Given the description of an element on the screen output the (x, y) to click on. 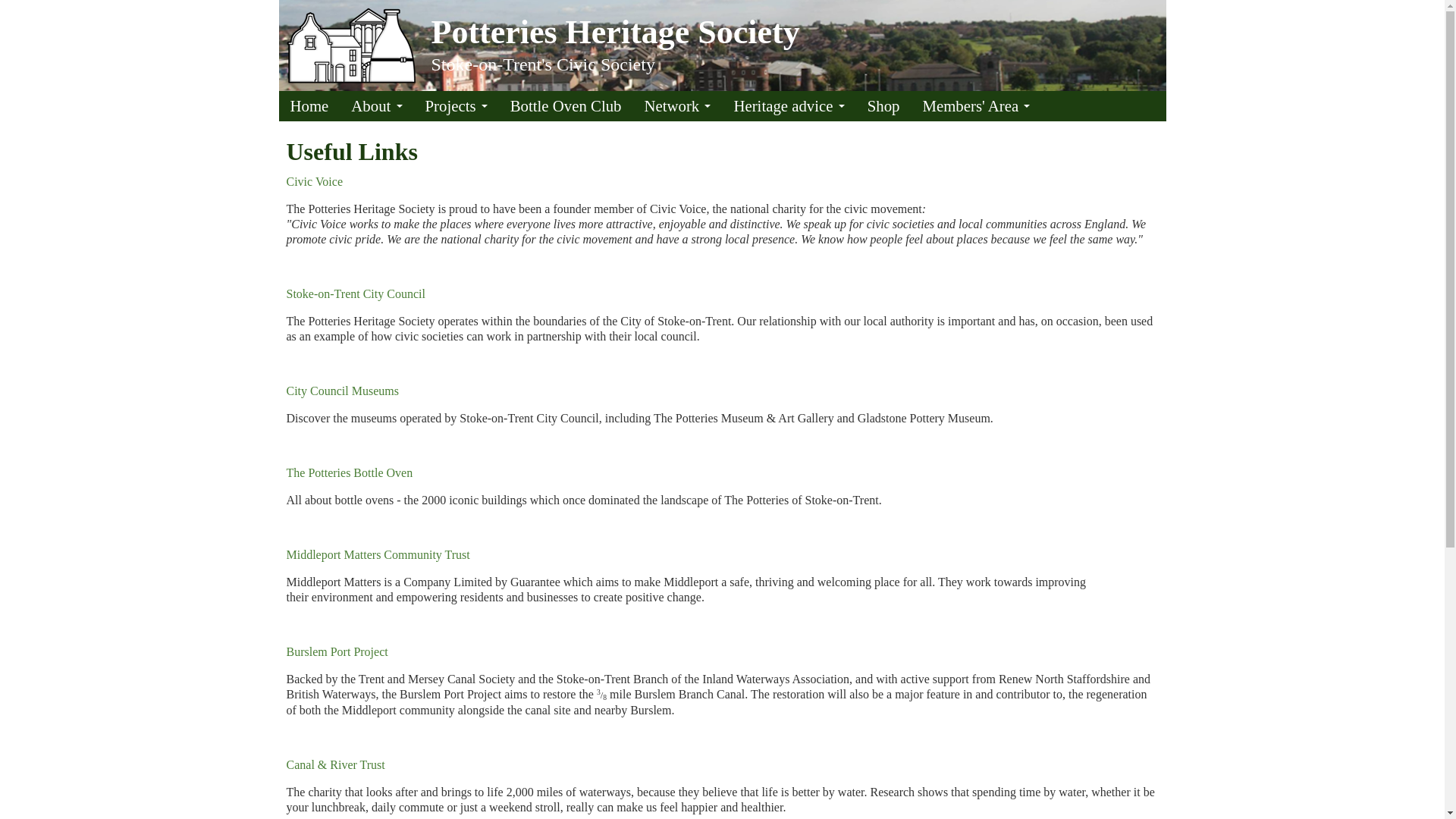
Projects (456, 105)
Potteries Heritage Society (614, 31)
Heritage advice (789, 105)
Home (614, 31)
Home (351, 43)
Home (309, 105)
About (376, 105)
Bottle Oven Club (566, 105)
About (376, 105)
Network (676, 105)
